Given the description of an element on the screen output the (x, y) to click on. 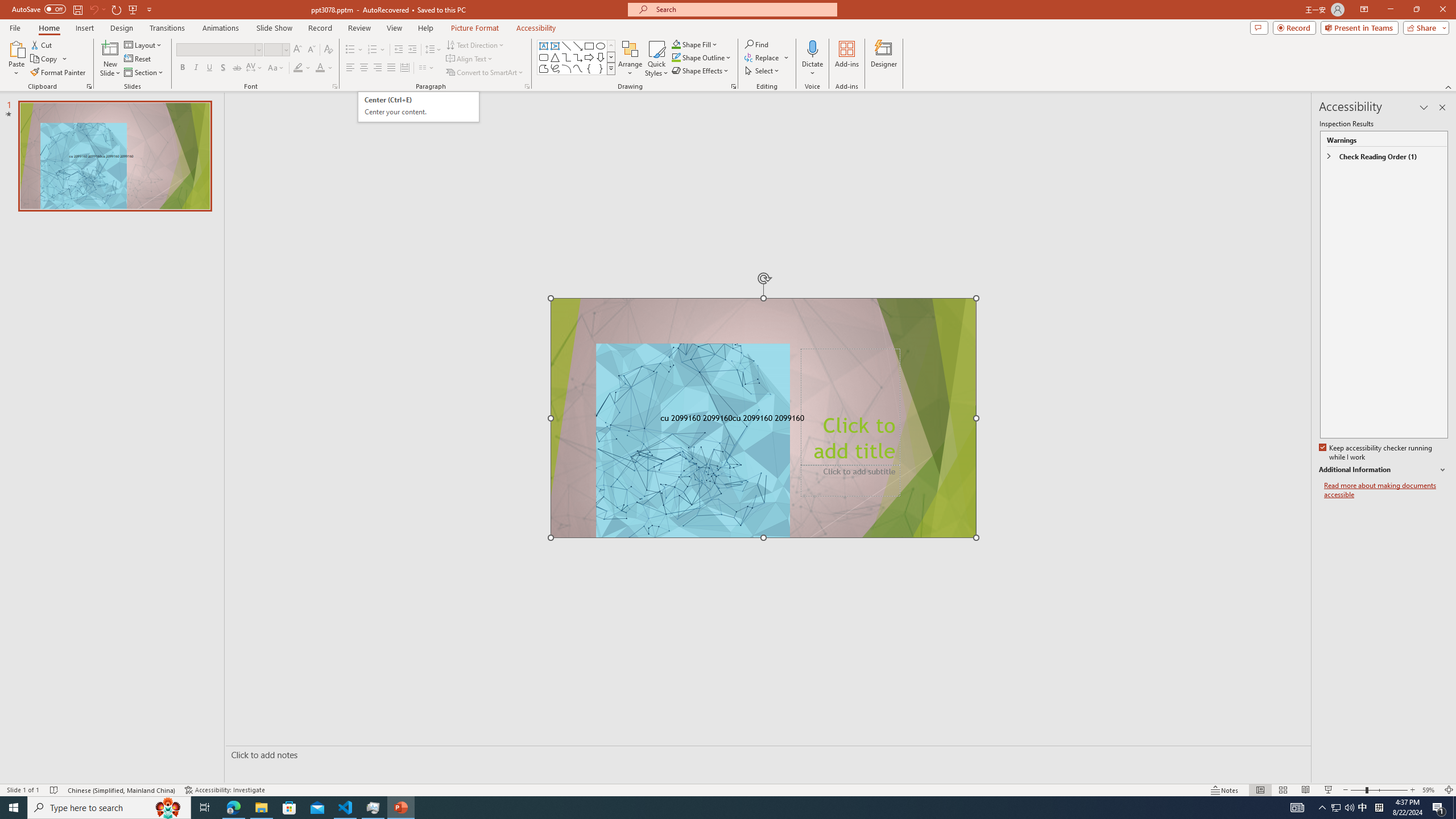
Picture Format (475, 28)
